Given the description of an element on the screen output the (x, y) to click on. 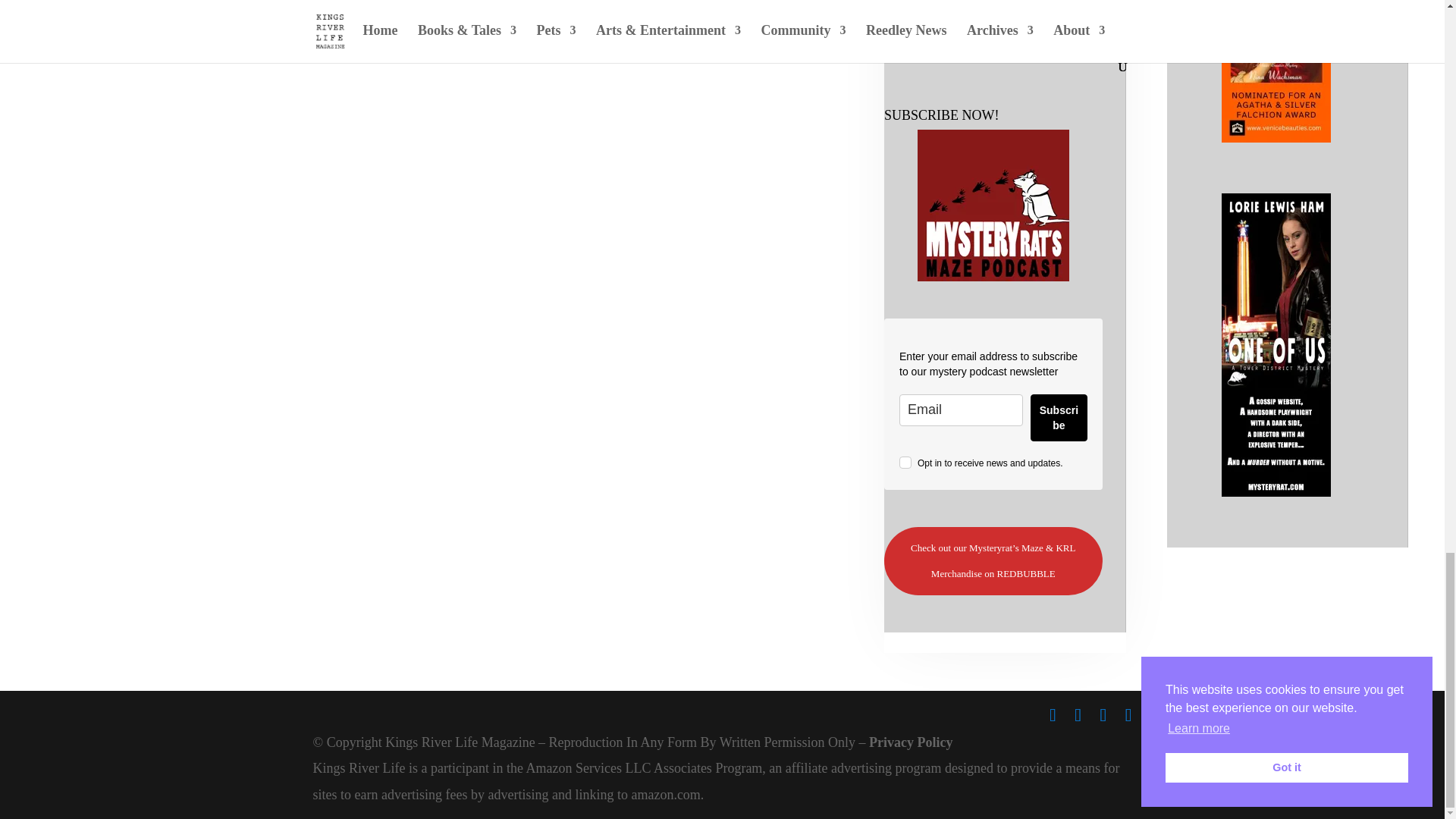
Subscribe now! (992, 205)
